Given the description of an element on the screen output the (x, y) to click on. 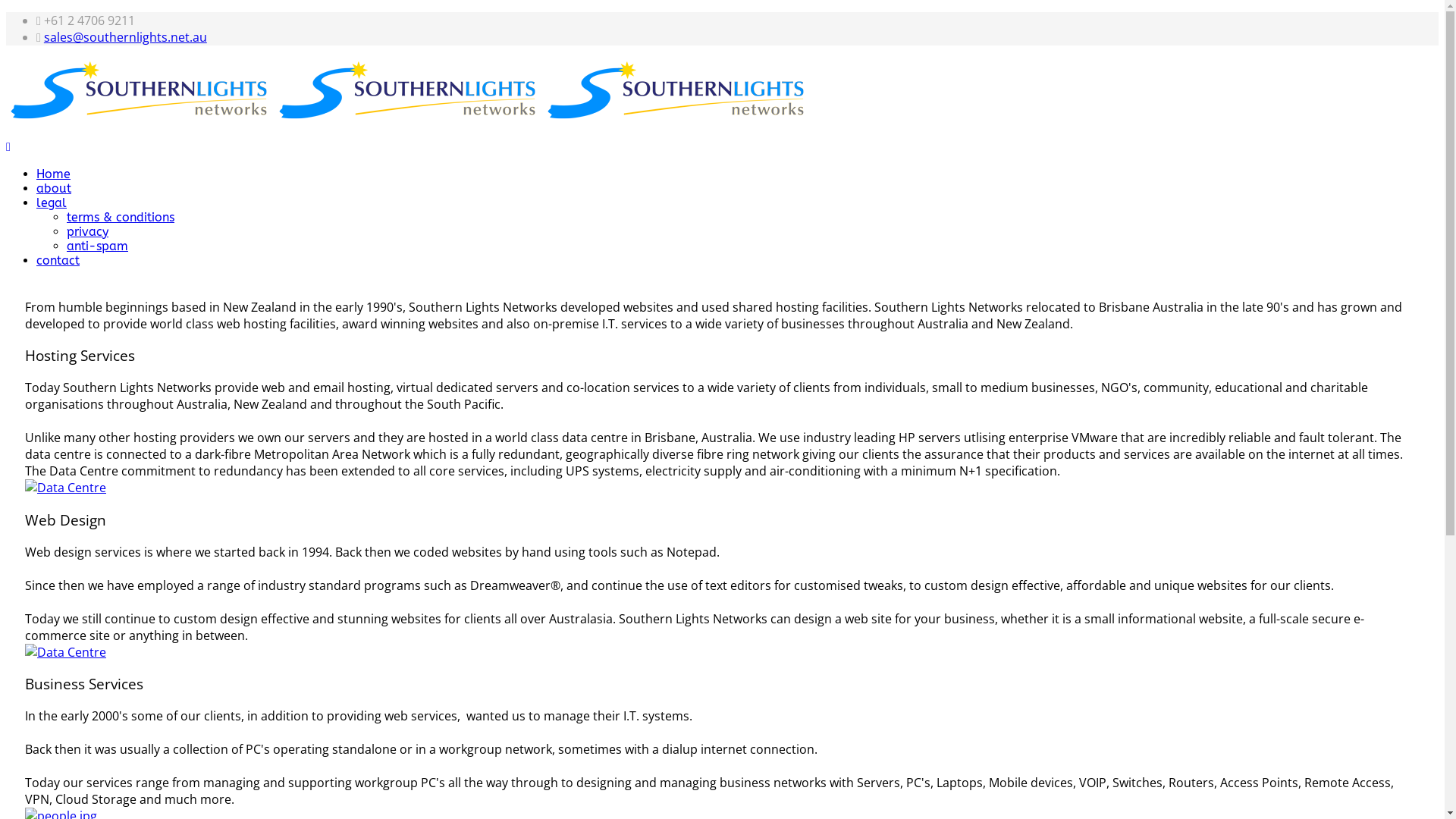
Home Element type: text (53, 173)
terms & conditions Element type: text (120, 217)
contact Element type: text (57, 260)
anti-spam Element type: text (97, 245)
sales@southernlights.net.au Element type: text (125, 36)
legal Element type: text (51, 202)
privacy Element type: text (87, 231)
about Element type: text (53, 188)
